Given the description of an element on the screen output the (x, y) to click on. 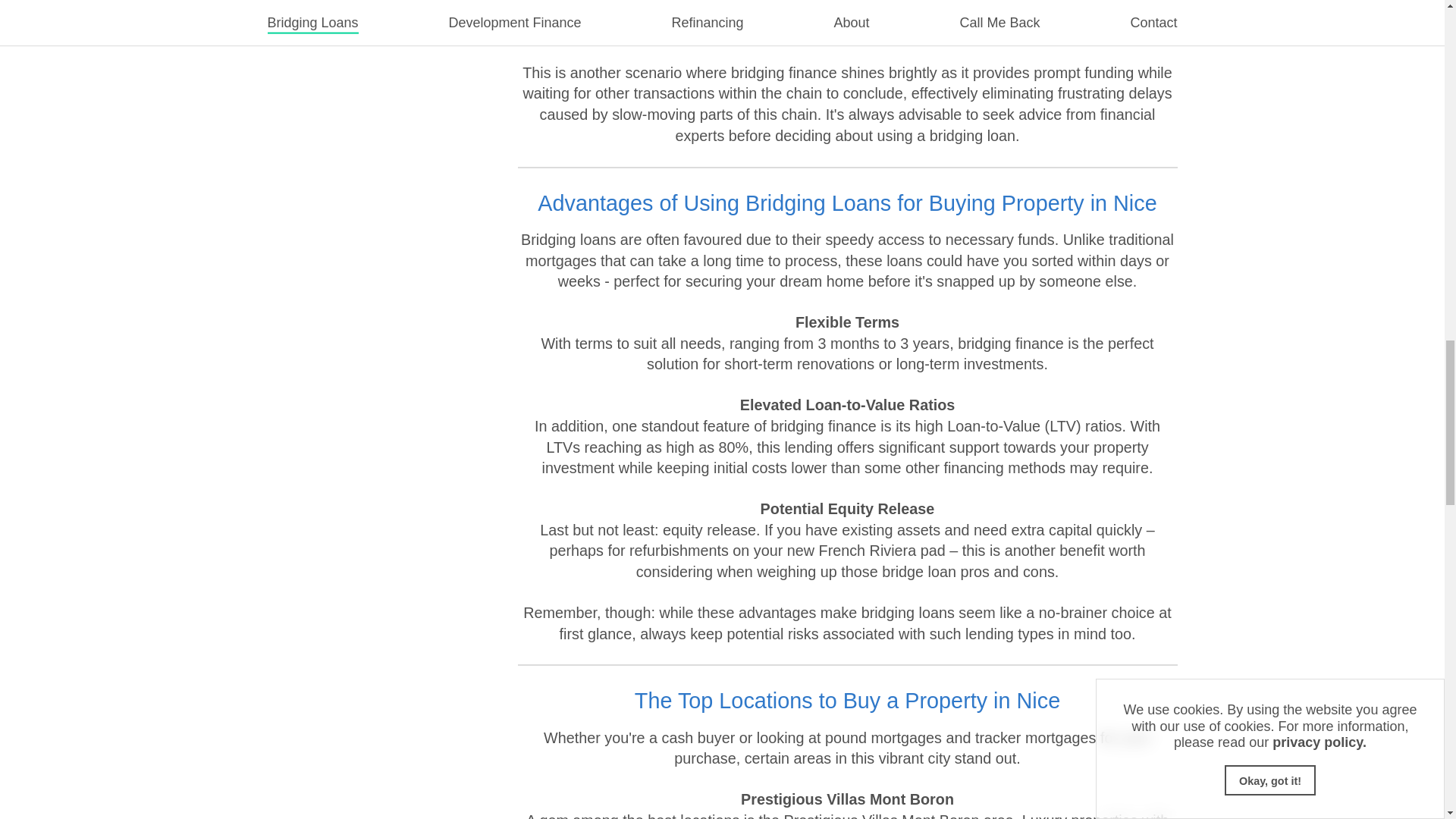
The Top Locations to Buy a Property in Nice (846, 663)
